Given the description of an element on the screen output the (x, y) to click on. 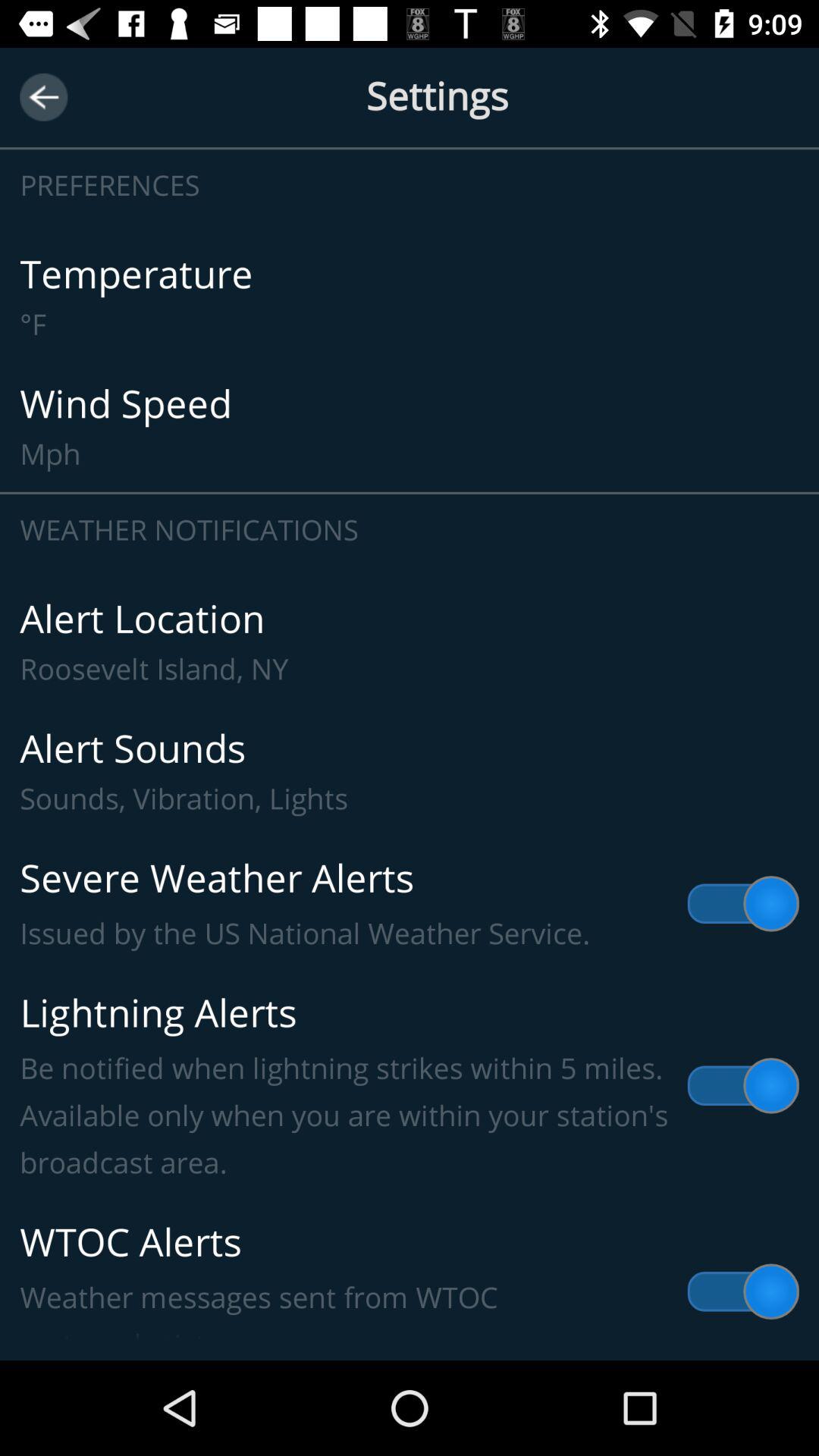
open the lightning alerts be icon (409, 1085)
